Given the description of an element on the screen output the (x, y) to click on. 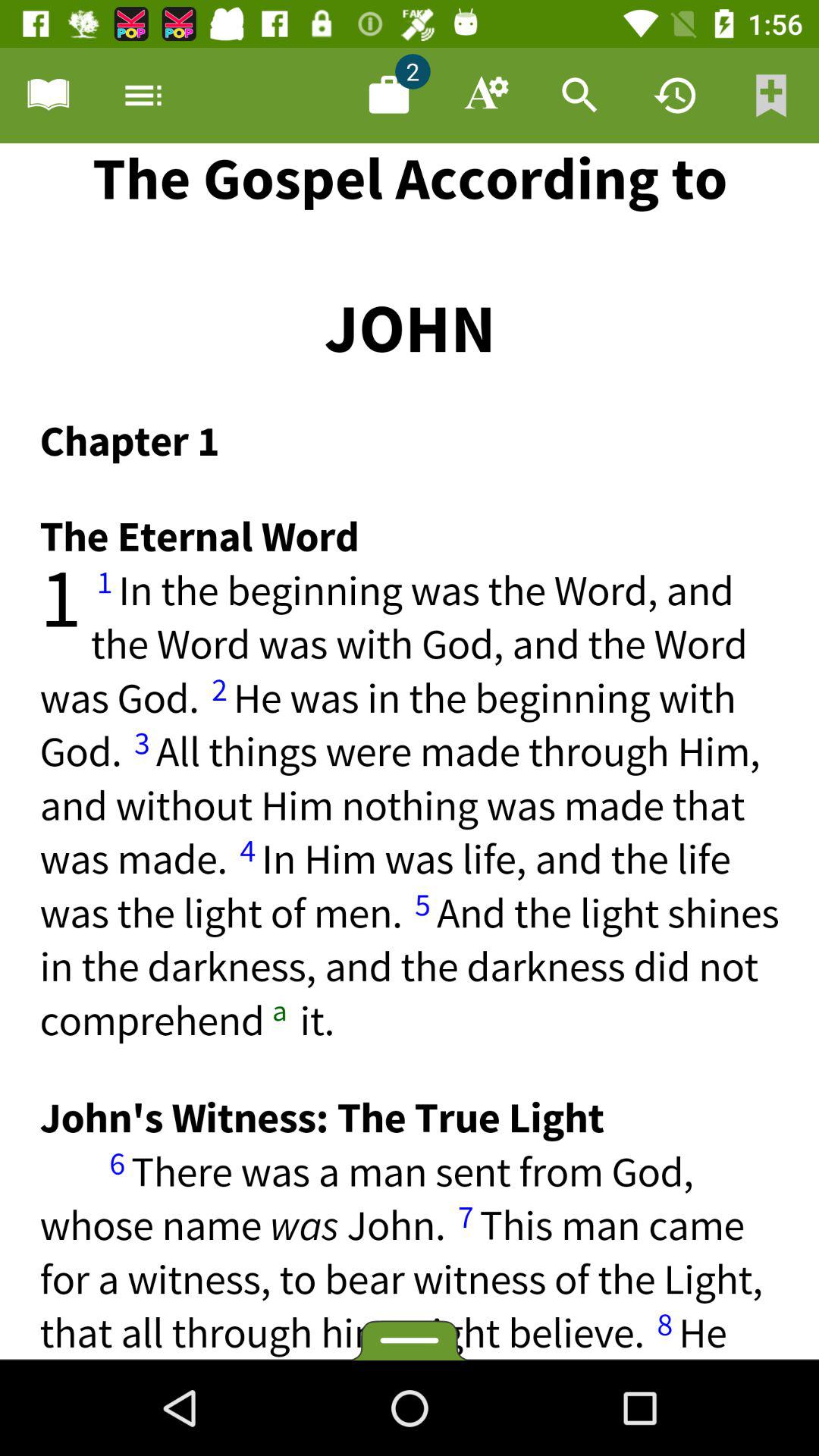
open documents (388, 95)
